Given the description of an element on the screen output the (x, y) to click on. 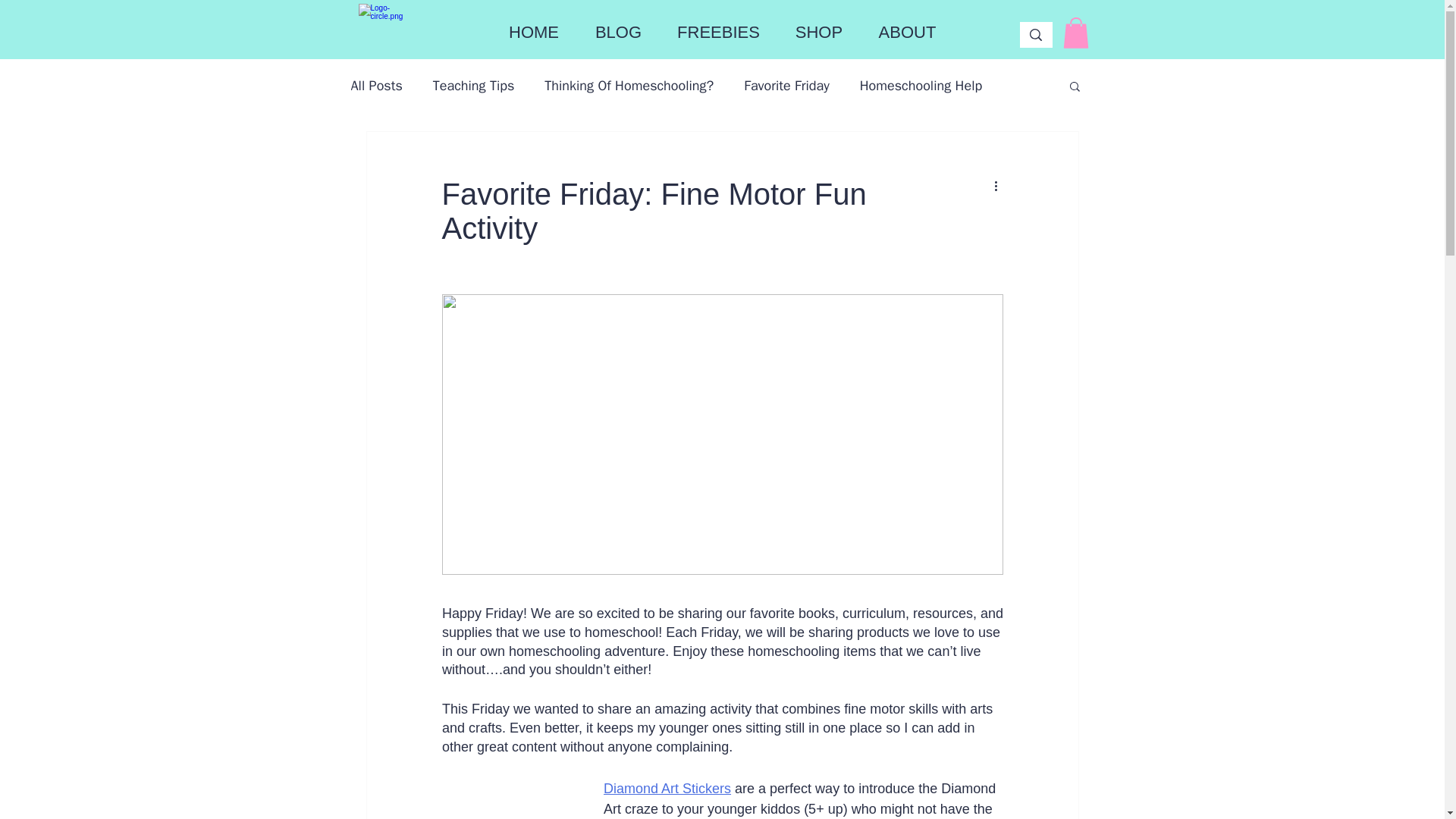
HOME (532, 32)
FREEBIES (718, 32)
Teaching Tips (473, 85)
Diamond Art Stickers (667, 787)
Favorite Friday (786, 85)
BLOG (618, 32)
All Posts (375, 85)
Homeschooling Help (920, 85)
Thinking Of Homeschooling? (628, 85)
